Given the description of an element on the screen output the (x, y) to click on. 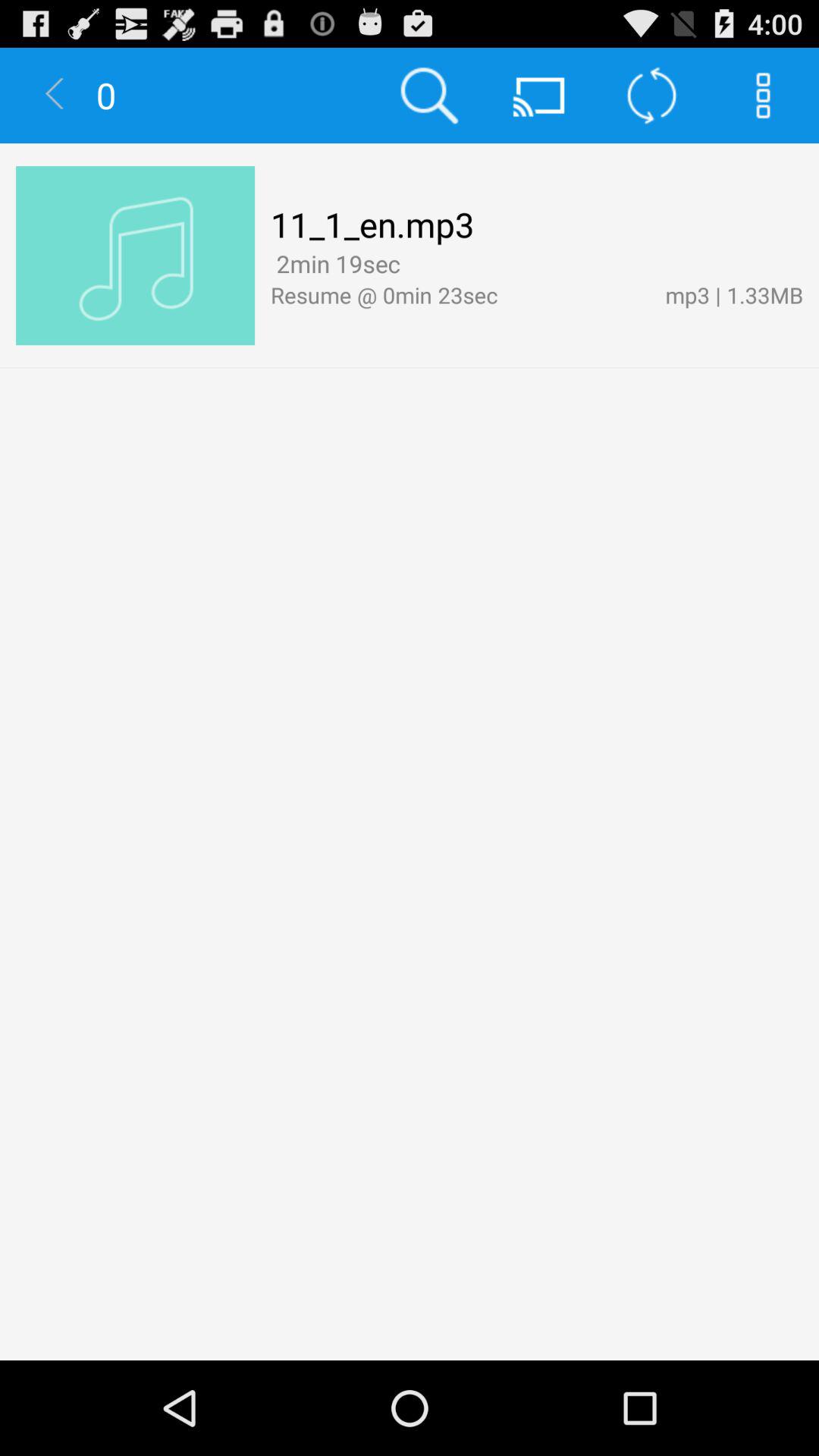
turn off item next to mp3 | 1.33mb app (411, 265)
